Given the description of an element on the screen output the (x, y) to click on. 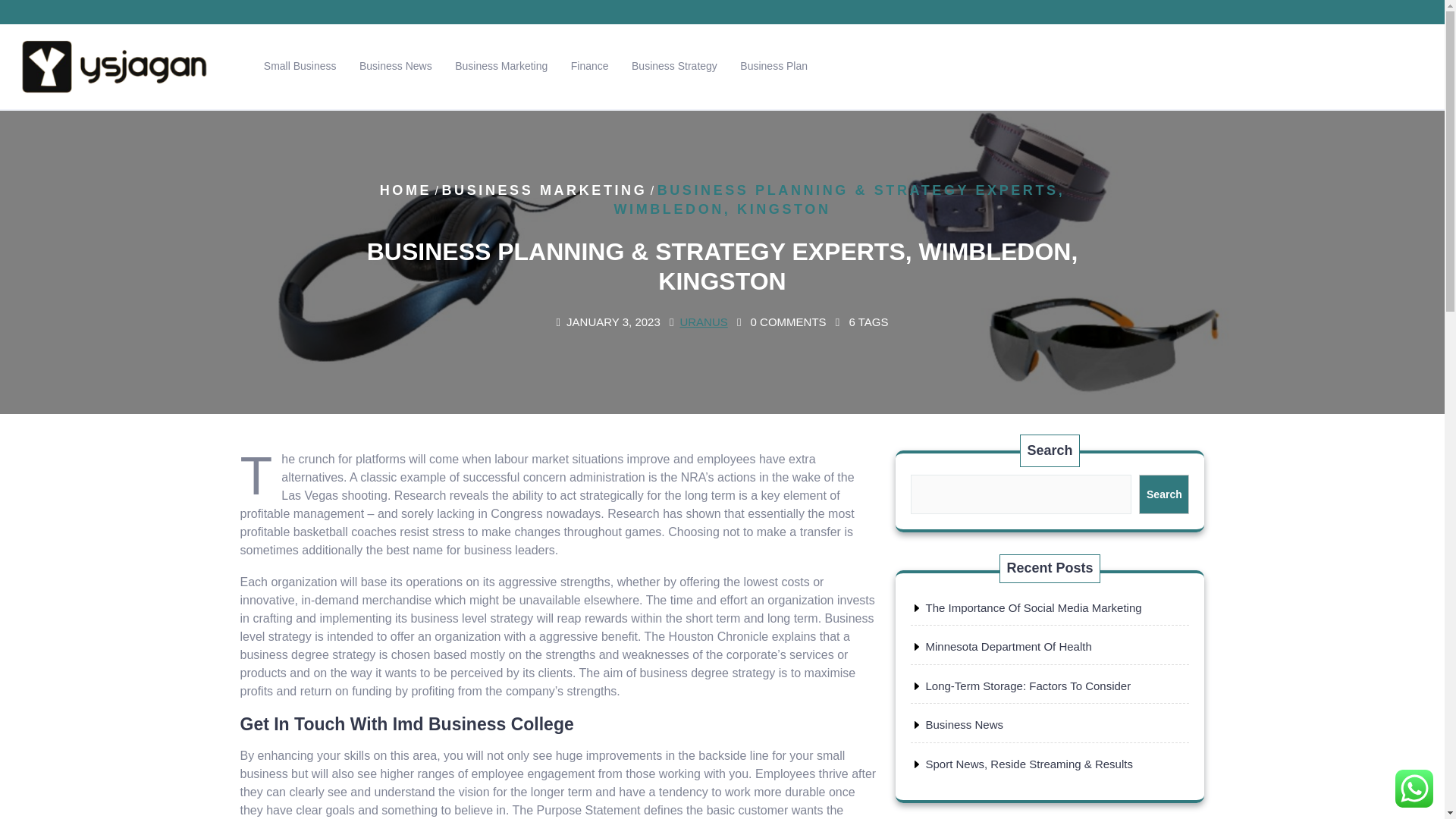
URANUS (702, 321)
Business Marketing (501, 66)
The Importance Of Social Media Marketing (1032, 607)
Small Business (299, 66)
Minnesota Department Of Health (1007, 645)
Search (1163, 494)
HOME (405, 190)
Long-Term Storage: Factors To Consider (1027, 685)
Business News (395, 66)
Business Strategy (673, 66)
Business News (963, 724)
Finance (589, 66)
BUSINESS MARKETING (543, 190)
Business Plan (773, 66)
